Given the description of an element on the screen output the (x, y) to click on. 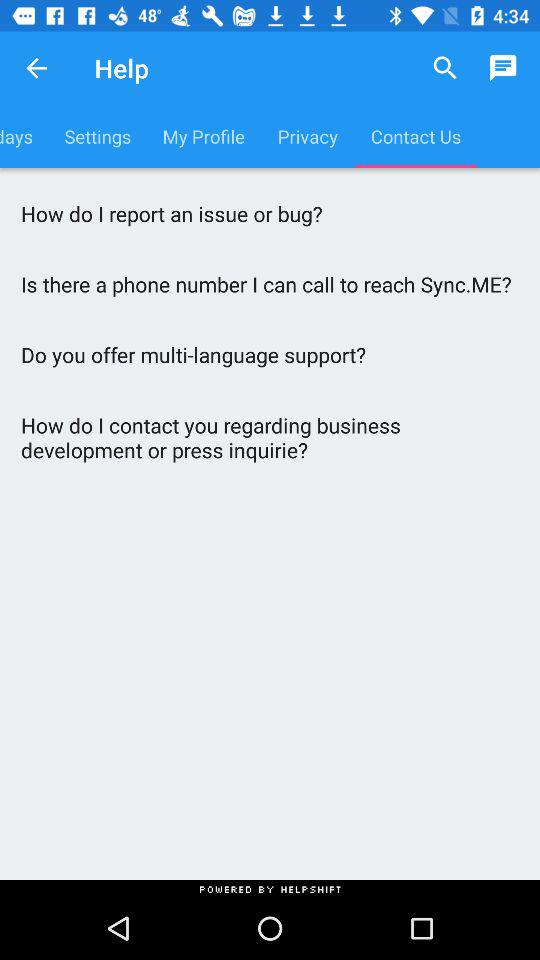
turn on item to the right of the privacy item (444, 67)
